Given the description of an element on the screen output the (x, y) to click on. 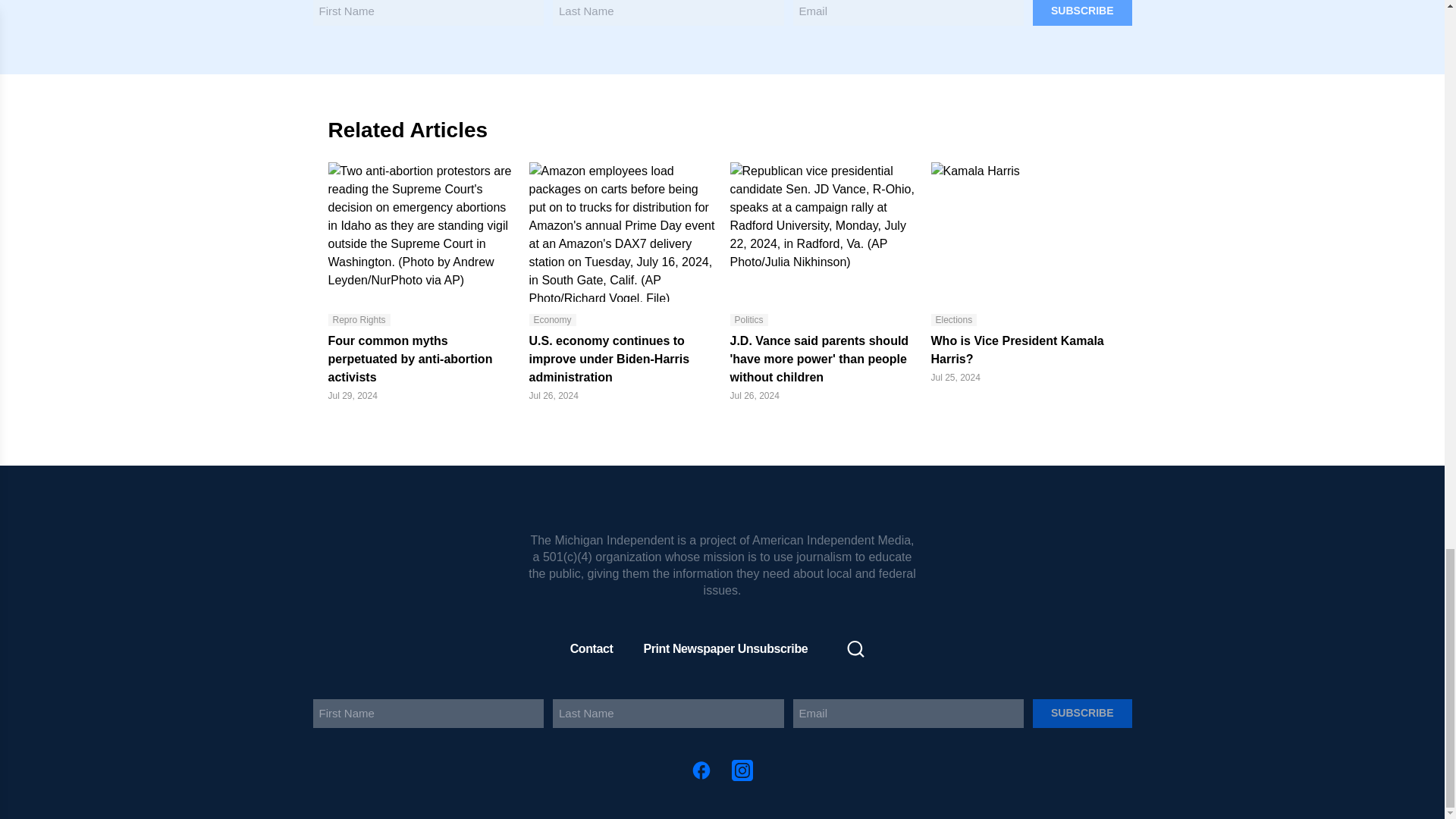
Subscribe (1081, 12)
Subscribe (1081, 713)
